Given the description of an element on the screen output the (x, y) to click on. 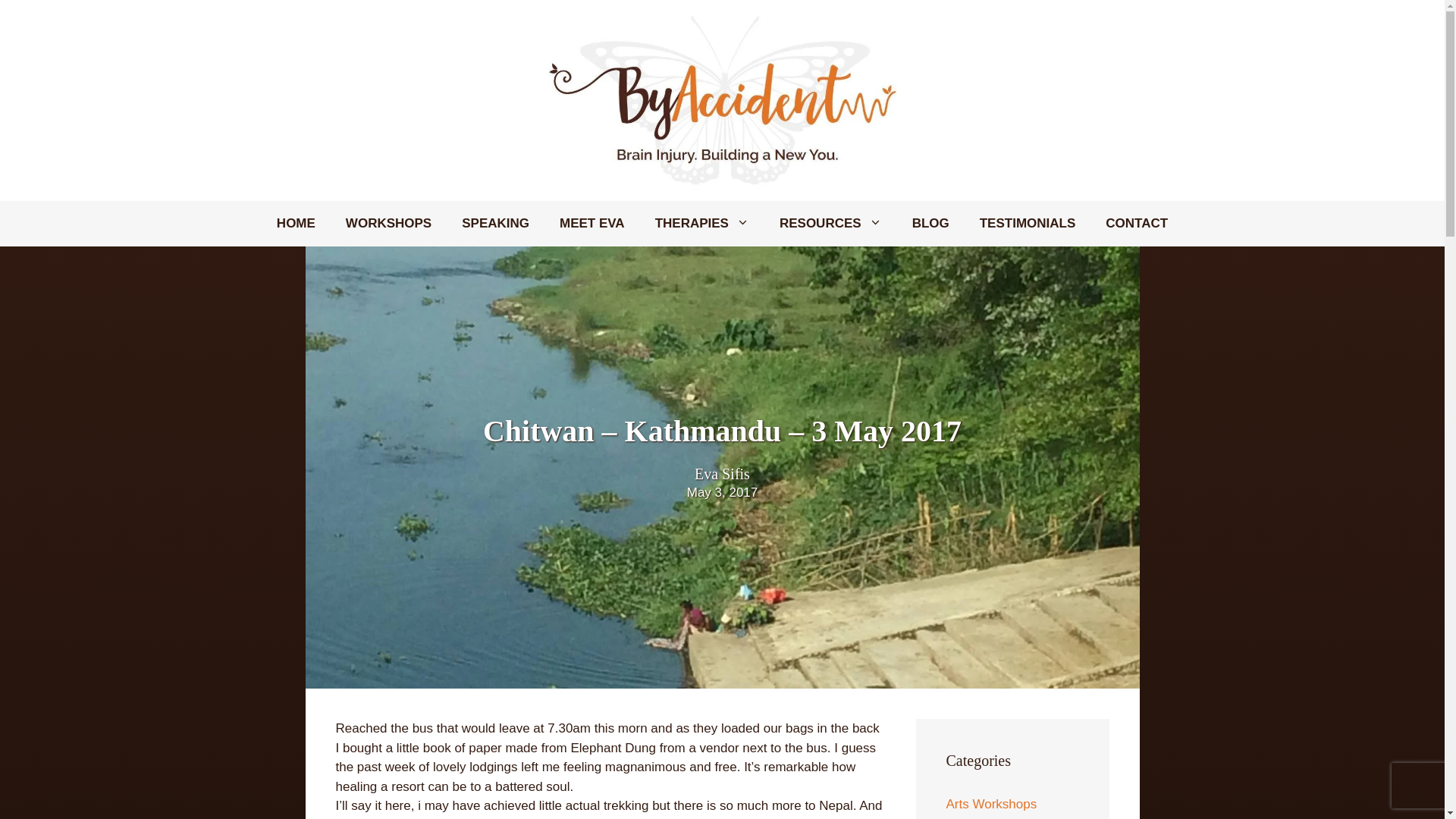
CONTACT (1136, 223)
HOME (296, 223)
MEET EVA (592, 223)
TESTIMONIALS (1026, 223)
BLOG (929, 223)
SPEAKING (495, 223)
THERAPIES (702, 223)
RESOURCES (830, 223)
Arts Workshops (991, 803)
WORKSHOPS (388, 223)
